Given the description of an element on the screen output the (x, y) to click on. 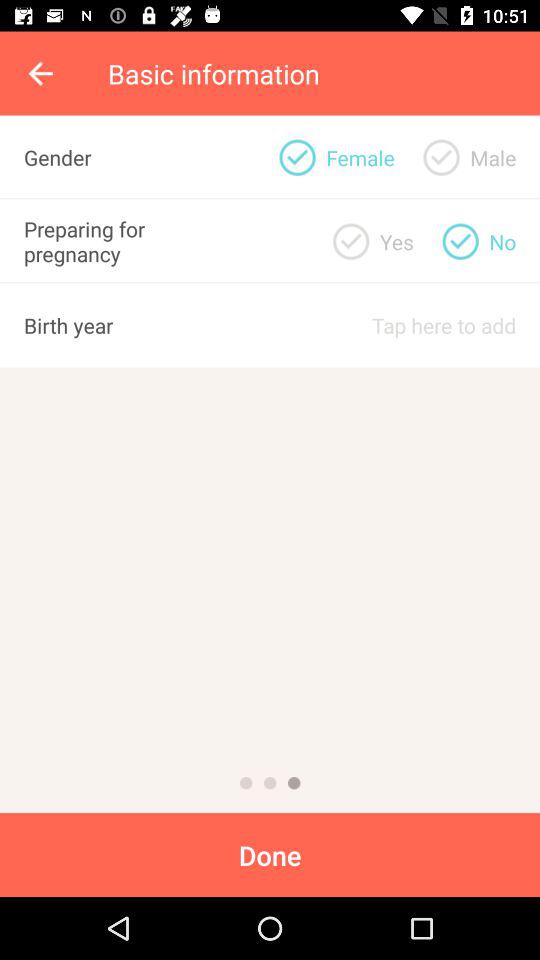
select icon next to gender icon (297, 157)
